Given the description of an element on the screen output the (x, y) to click on. 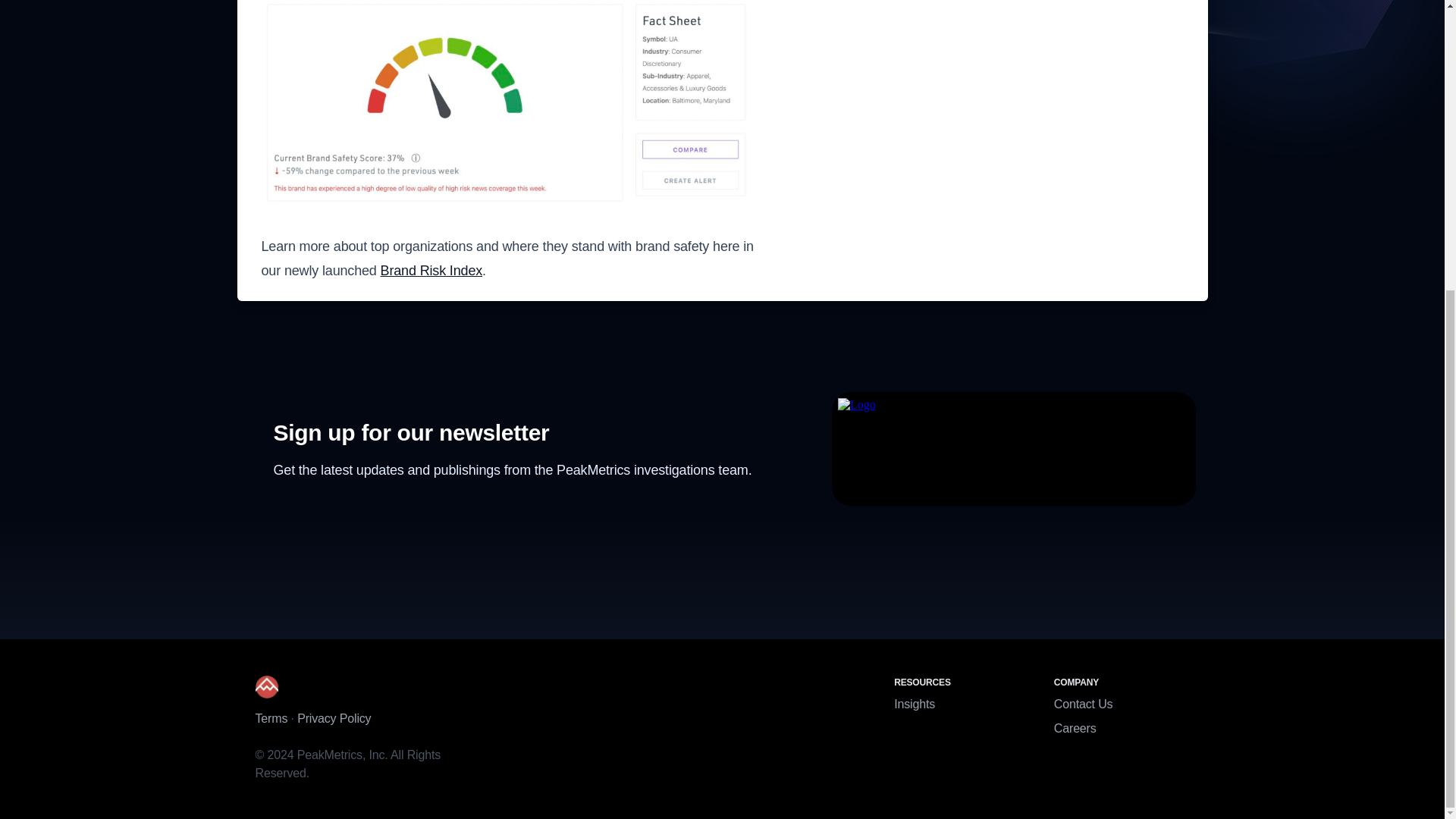
Careers (1075, 727)
Contact Us (1083, 703)
Insights (913, 703)
Terms (270, 717)
Brand Risk Index (431, 270)
Privacy Policy (334, 717)
